Given the description of an element on the screen output the (x, y) to click on. 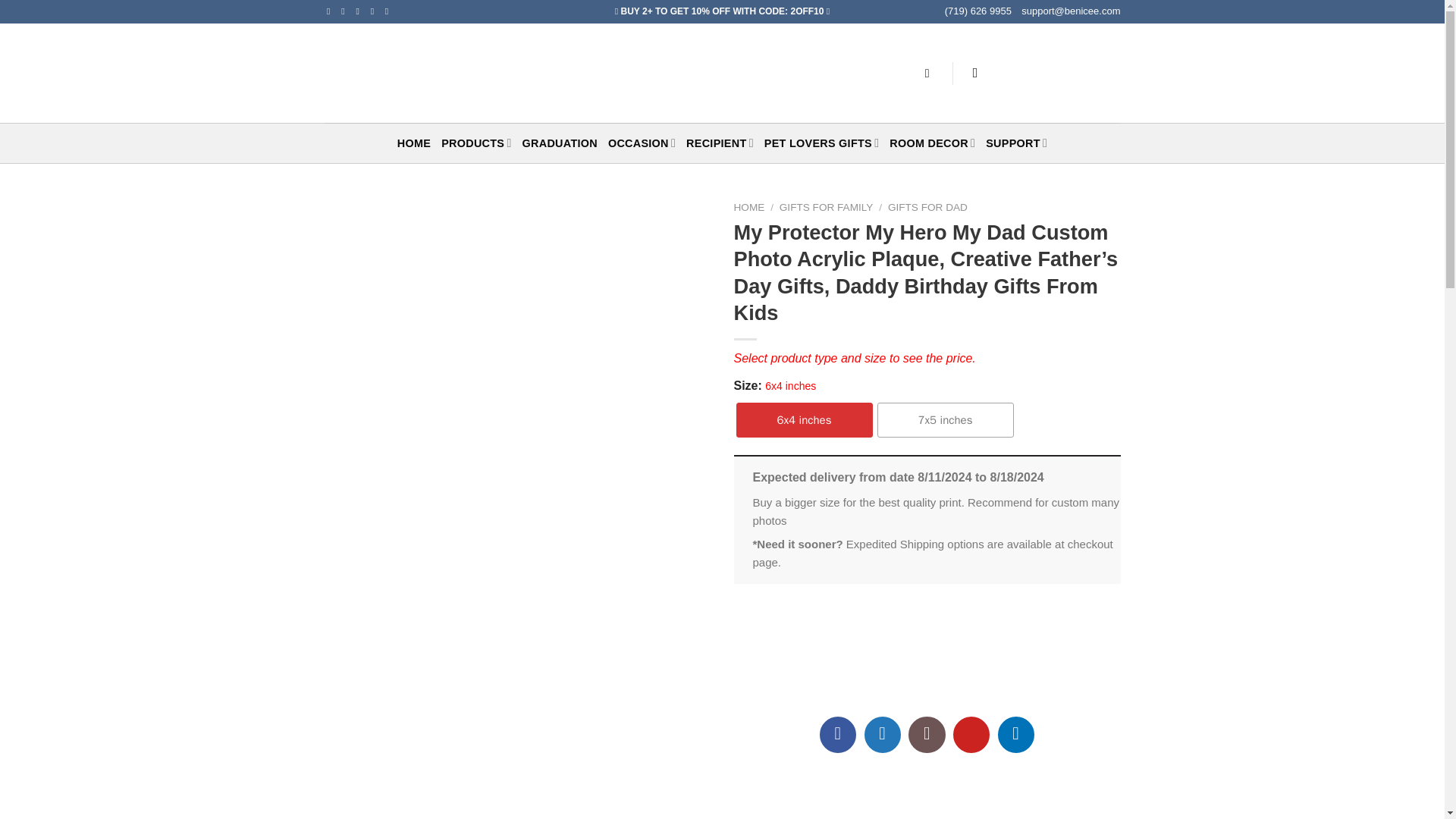
GRADUATION (559, 142)
7x5 inches (944, 419)
PRODUCTS (476, 142)
RECIPIENT (719, 142)
6x4 inches (803, 419)
OCCASION (641, 142)
